Given the description of an element on the screen output the (x, y) to click on. 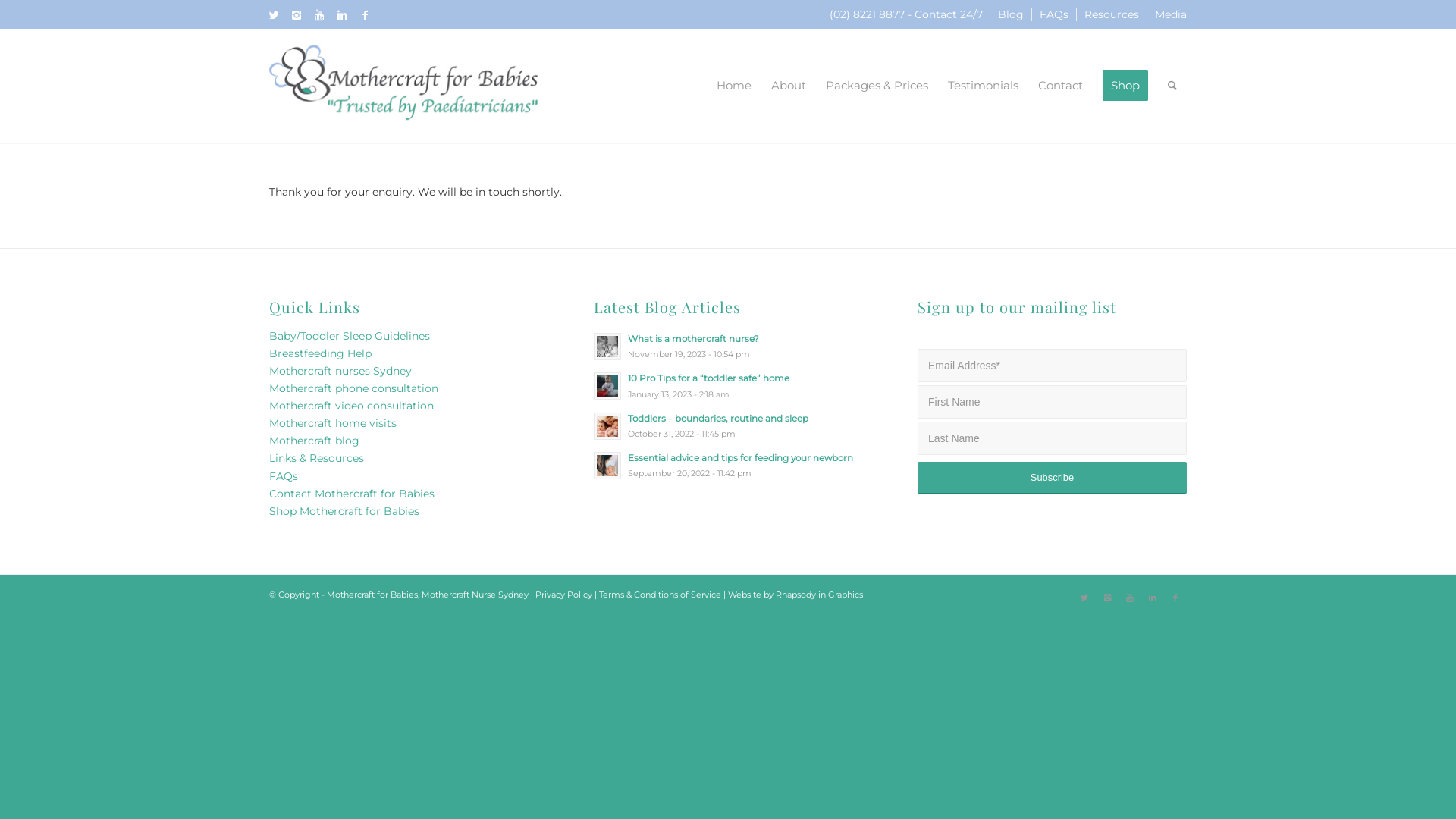
Testimonials Element type: text (983, 85)
Resources Element type: text (1111, 14)
FAQs Element type: text (283, 476)
Privacy Policy Element type: text (563, 594)
Instagram Element type: hover (1106, 597)
Subscribe Element type: text (1051, 477)
(02) 8221 8877 - Contact 24/7 Element type: text (905, 14)
What is a mothercraft nurse?
November 19, 2023 - 10:54 pm Element type: text (727, 345)
Linkedin Element type: hover (1152, 597)
Contact Mothercraft for Babies Element type: text (351, 493)
Mothercraft blog Element type: text (314, 440)
Terms & Conditions Element type: text (638, 594)
Mothercraft phone consultation Element type: text (353, 388)
Mothercraft video consultation Element type: text (351, 405)
Youtube Element type: hover (1129, 597)
Breastfeeding Help Element type: text (320, 353)
Mothercraft nurses Sydney Element type: text (340, 370)
Twitter Element type: hover (273, 14)
Instagram Element type: hover (296, 14)
Packages & Prices Element type: text (876, 85)
Contact Element type: text (1060, 85)
Facebook Element type: hover (364, 14)
Twitter Element type: hover (1084, 597)
FAQs Element type: text (1053, 14)
Mothercraft home visits Element type: text (332, 422)
Linkedin Element type: hover (341, 14)
Rhapsody in Graphics Element type: text (818, 594)
Shop Mothercraft for Babies Element type: text (344, 510)
Home Element type: text (733, 85)
Shop Element type: text (1124, 85)
Blog Element type: text (1010, 14)
Facebook Element type: hover (1175, 597)
Youtube Element type: hover (318, 14)
Links & Resources Element type: text (316, 457)
Baby/Toddler Sleep Guidelines Element type: text (349, 335)
Media Element type: text (1170, 14)
About Element type: text (788, 85)
